Given the description of an element on the screen output the (x, y) to click on. 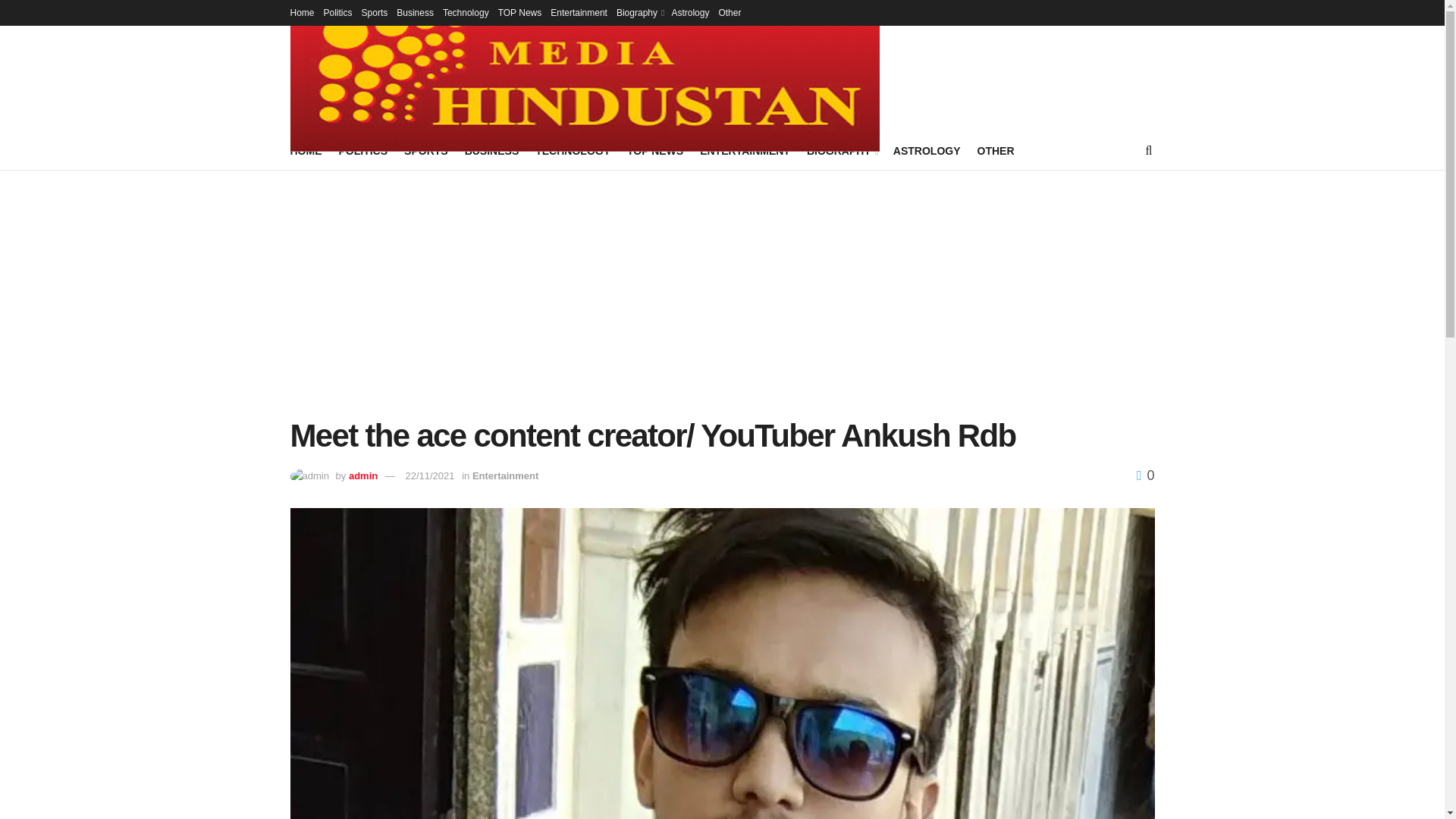
Technology (465, 12)
Business (414, 12)
Home (301, 12)
OTHER (994, 150)
TECHNOLOGY (572, 150)
BIOGRAPHY (841, 150)
TOP NEWS (654, 150)
TOP News (519, 12)
astrology (926, 150)
ENTERTAINMENT (745, 150)
Entertainment (578, 12)
Biography (638, 12)
HOME (305, 150)
astrology (690, 12)
BUSINESS (491, 150)
